Given the description of an element on the screen output the (x, y) to click on. 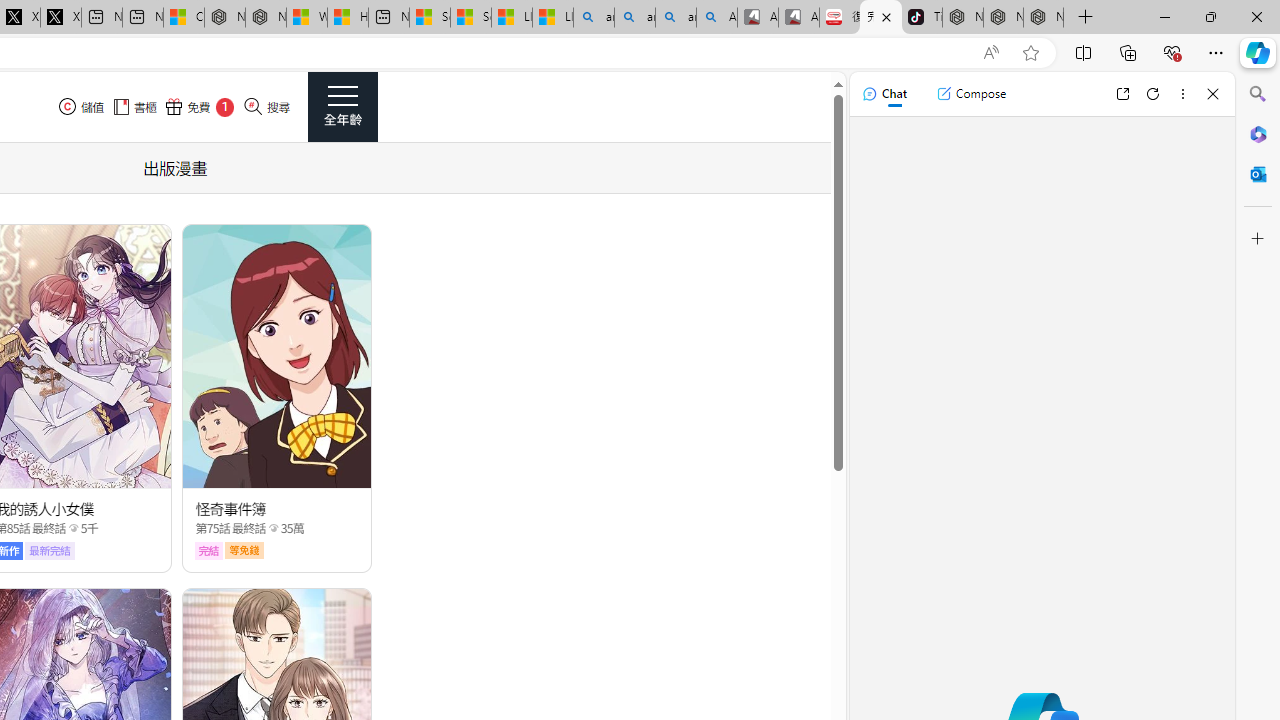
X (60, 17)
amazon - Search Images (675, 17)
Class: thumb_img (277, 356)
